Given the description of an element on the screen output the (x, y) to click on. 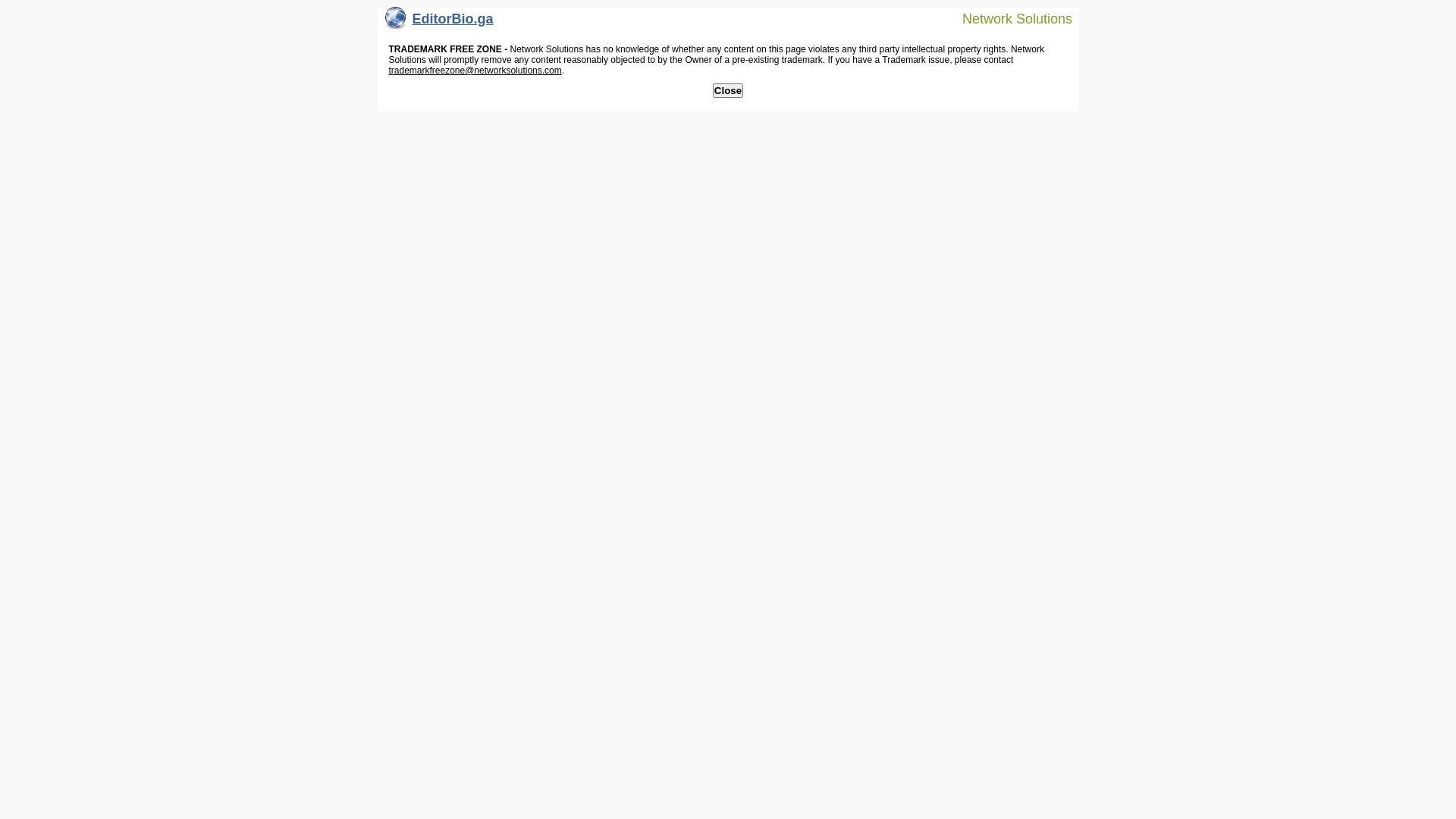
EditorBio.ga Element type: text (439, 21)
Network Solutions Element type: text (1007, 17)
Close Element type: text (727, 90)
trademarkfreezone@networksolutions.com Element type: text (474, 70)
